Given the description of an element on the screen output the (x, y) to click on. 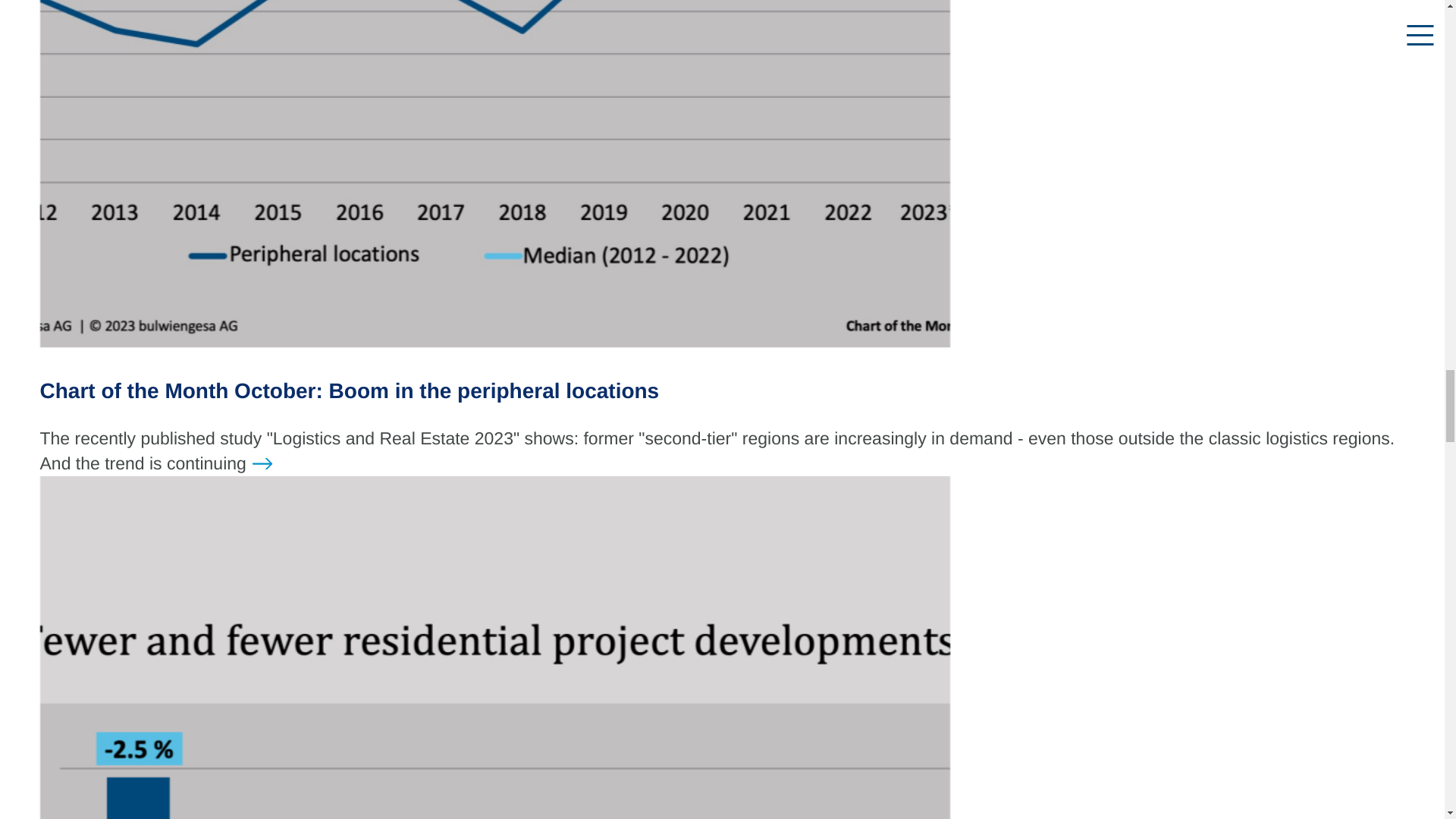
Chart of the Month October: Boom in the peripheral locations (349, 390)
